Given the description of an element on the screen output the (x, y) to click on. 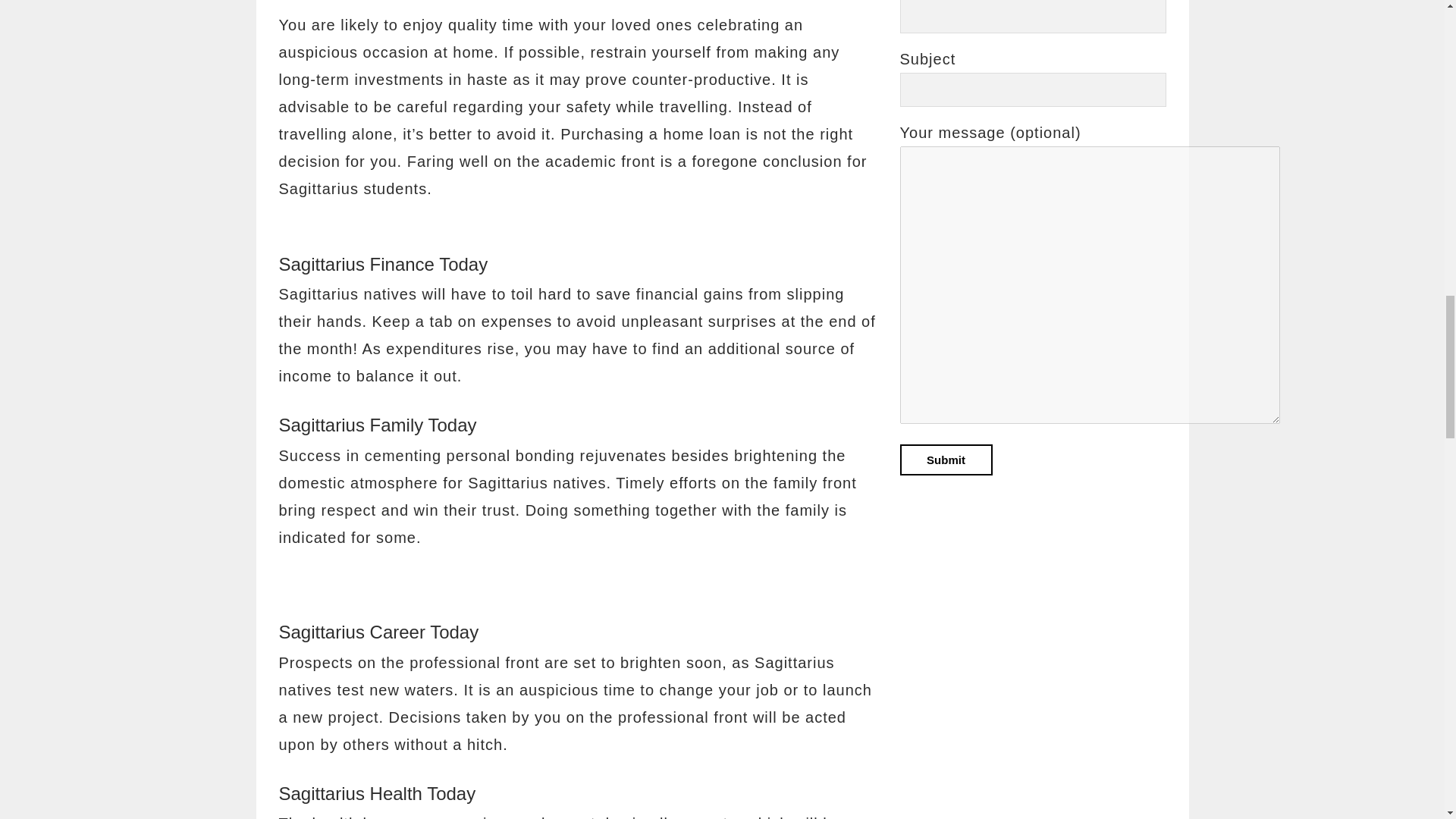
Submit (945, 459)
